Given the description of an element on the screen output the (x, y) to click on. 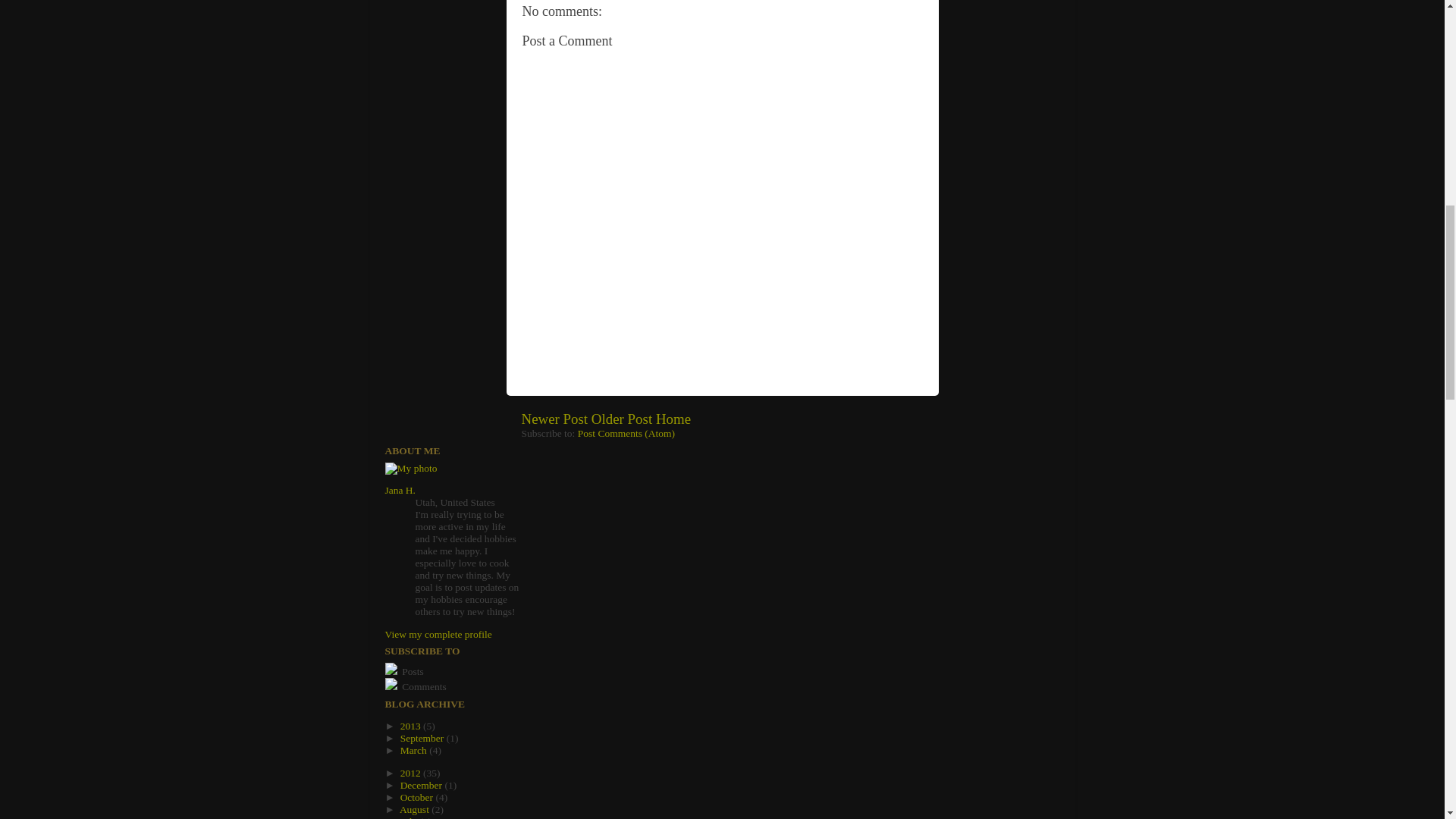
Older Post (621, 418)
Home (673, 418)
March (414, 749)
September (423, 737)
2012 (411, 772)
Older Post (621, 418)
Newer Post (554, 418)
2013 (411, 726)
Jana H. (400, 490)
Newer Post (554, 418)
View my complete profile (438, 633)
